Given the description of an element on the screen output the (x, y) to click on. 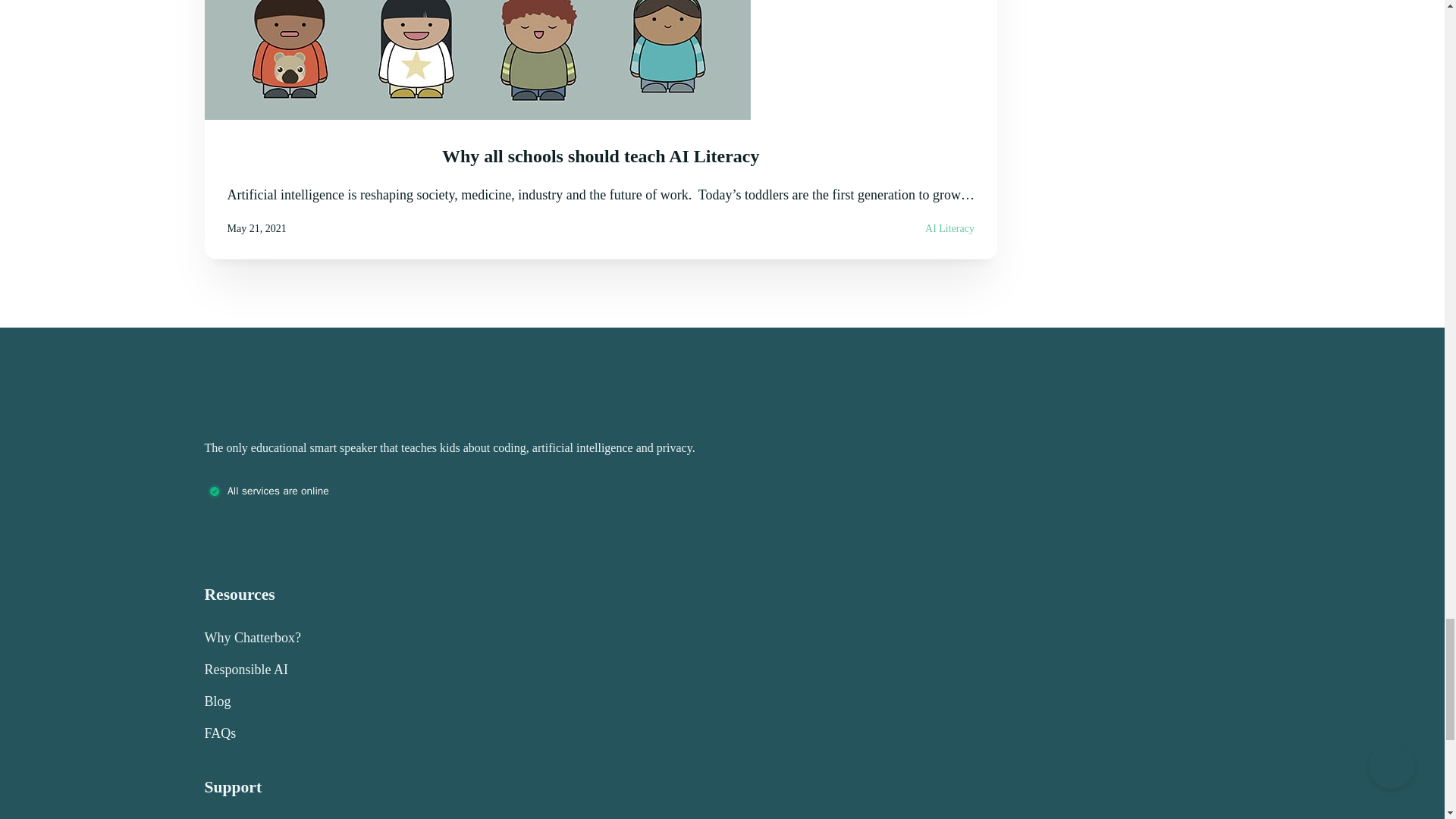
AI Literacy (949, 228)
Why all schools should teach AI Literacy (600, 156)
